Given the description of an element on the screen output the (x, y) to click on. 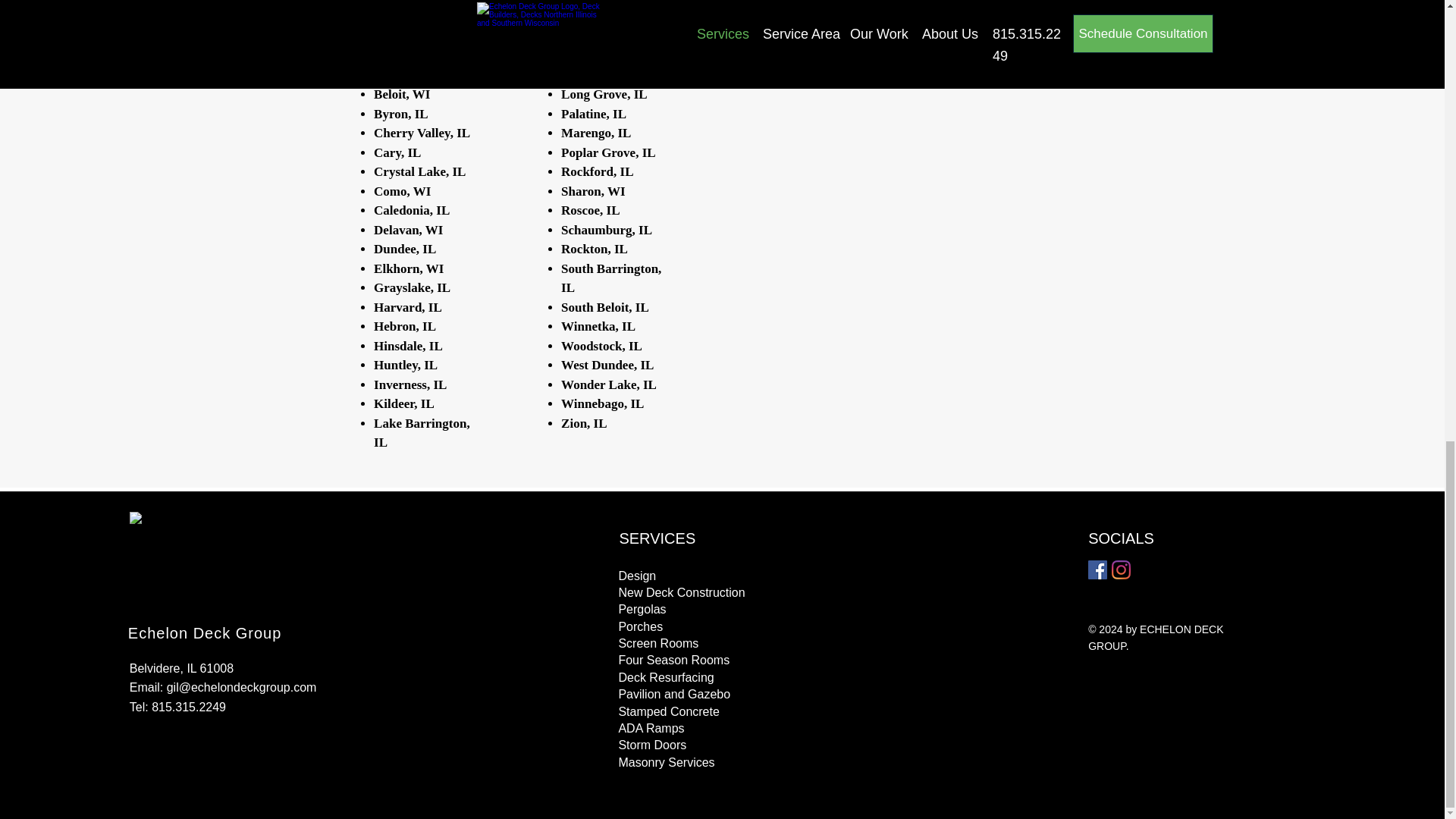
Elkhorn, WI (409, 267)
Beloit, WI (401, 93)
Barrington, IL (414, 16)
Grayslake, IL (411, 287)
Harvard, IL (408, 307)
Hinsdale, IL (408, 345)
Bull Valley, IL (413, 74)
Cherry Valley, IL (422, 132)
Hebron, IL (404, 326)
Delavan, WI (408, 229)
